Given the description of an element on the screen output the (x, y) to click on. 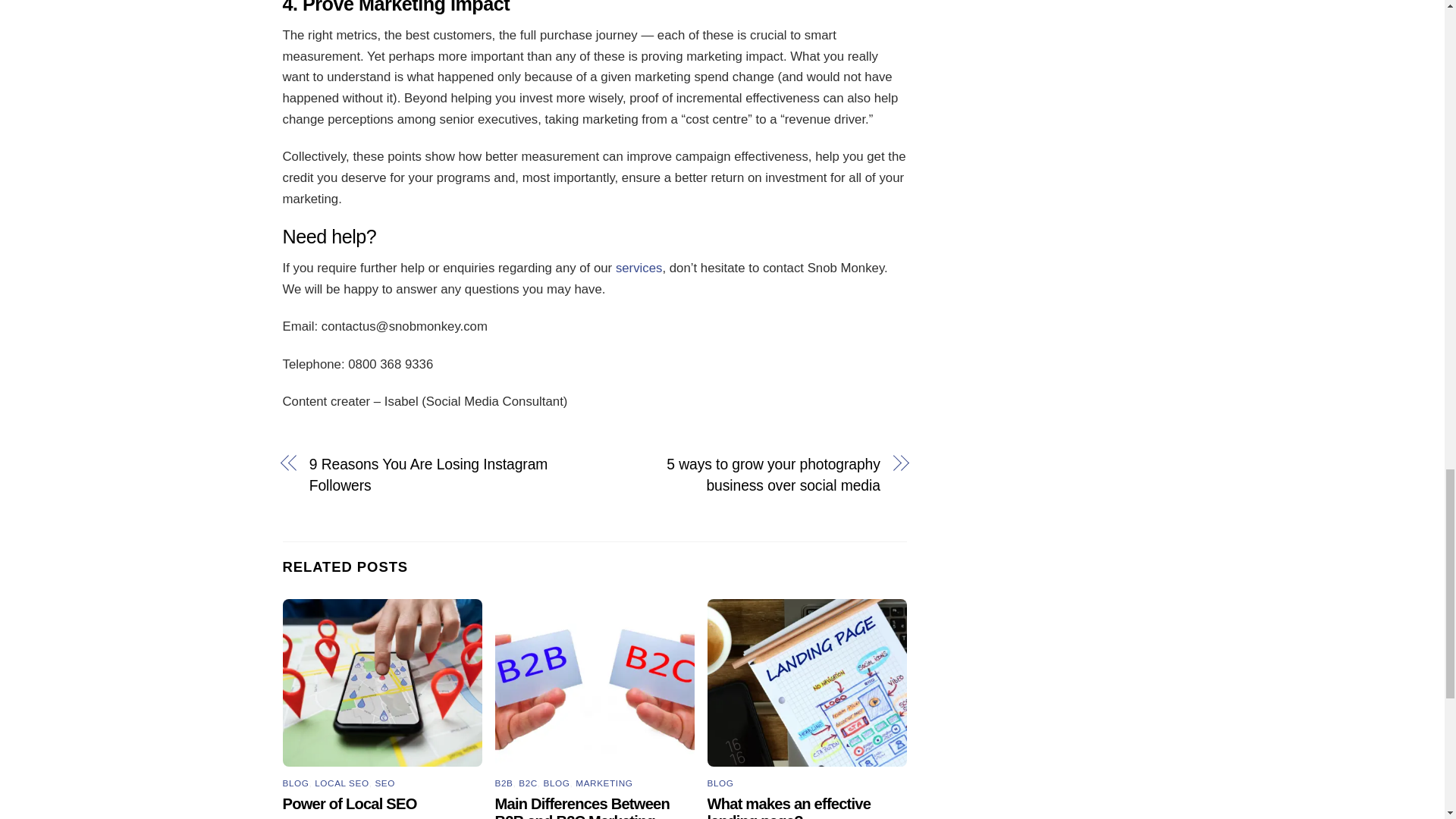
MARKETING (603, 782)
5 ways to grow your photography business over social media (746, 475)
Main Differences Between B2B and B2C Marketing (582, 807)
B2C (527, 782)
Power of Local SEO (349, 803)
SEO (384, 782)
BLOG (556, 782)
services (638, 268)
B2B (504, 782)
BLOG (295, 782)
LOCAL SEO (341, 782)
9 Reasons You Are Losing Instagram Followers (442, 475)
